Given the description of an element on the screen output the (x, y) to click on. 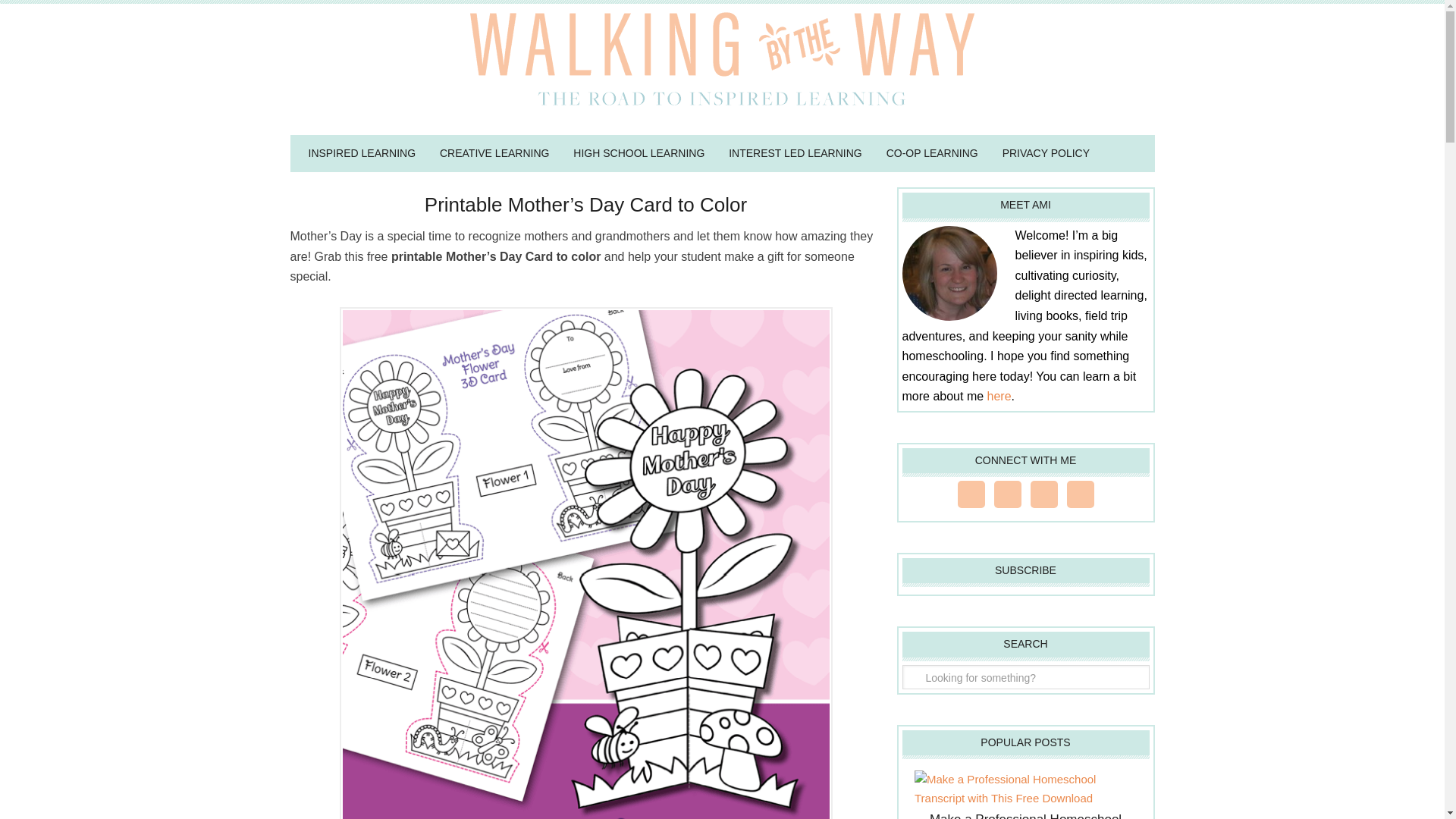
CREATIVE LEARNING (494, 153)
PRIVACY POLICY (1045, 153)
INTEREST LED LEARNING (794, 153)
INSPIRED LEARNING (361, 153)
WALKING BY THE WAY (721, 64)
CO-OP LEARNING (932, 153)
HIGH SCHOOL LEARNING (638, 153)
